Given the description of an element on the screen output the (x, y) to click on. 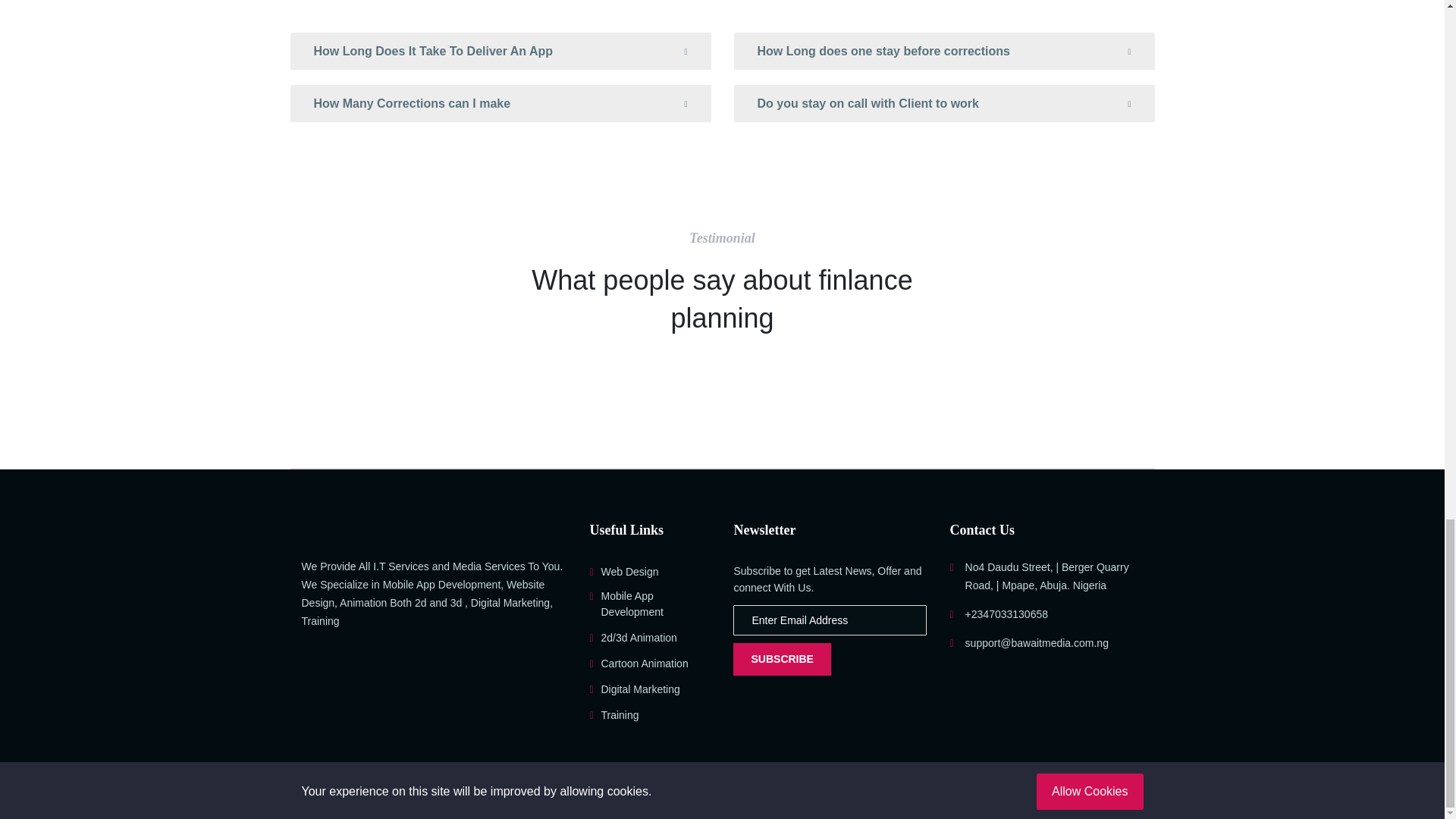
Web Design (623, 571)
Do you stay on call with Client to work (943, 103)
How Long does one stay before corrections (943, 51)
How Many Corrections can I make (499, 103)
How Long Does It Take To Deliver An App (499, 51)
